Given the description of an element on the screen output the (x, y) to click on. 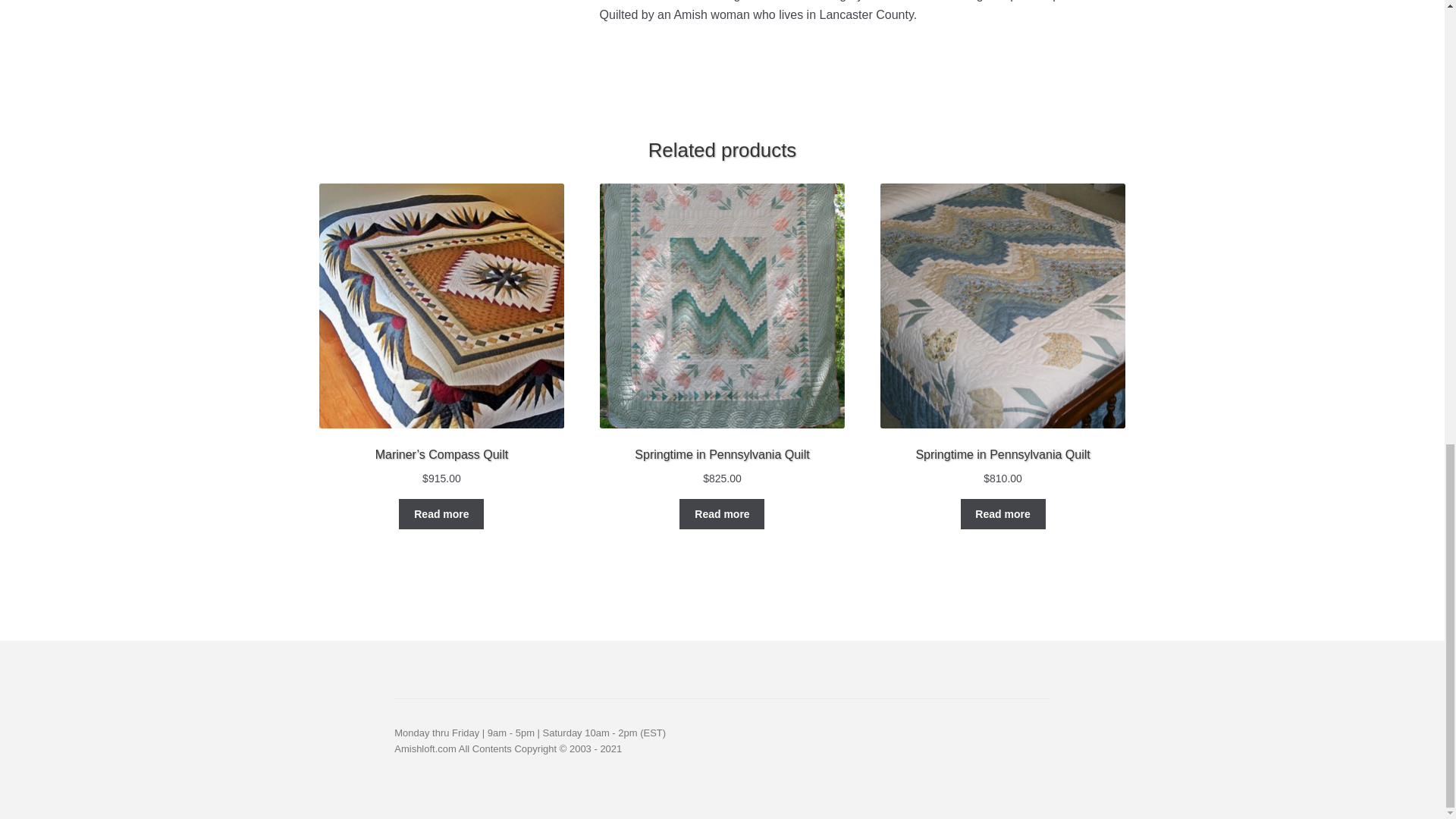
Read more (1002, 513)
Read more (721, 513)
Read more (440, 513)
